Given the description of an element on the screen output the (x, y) to click on. 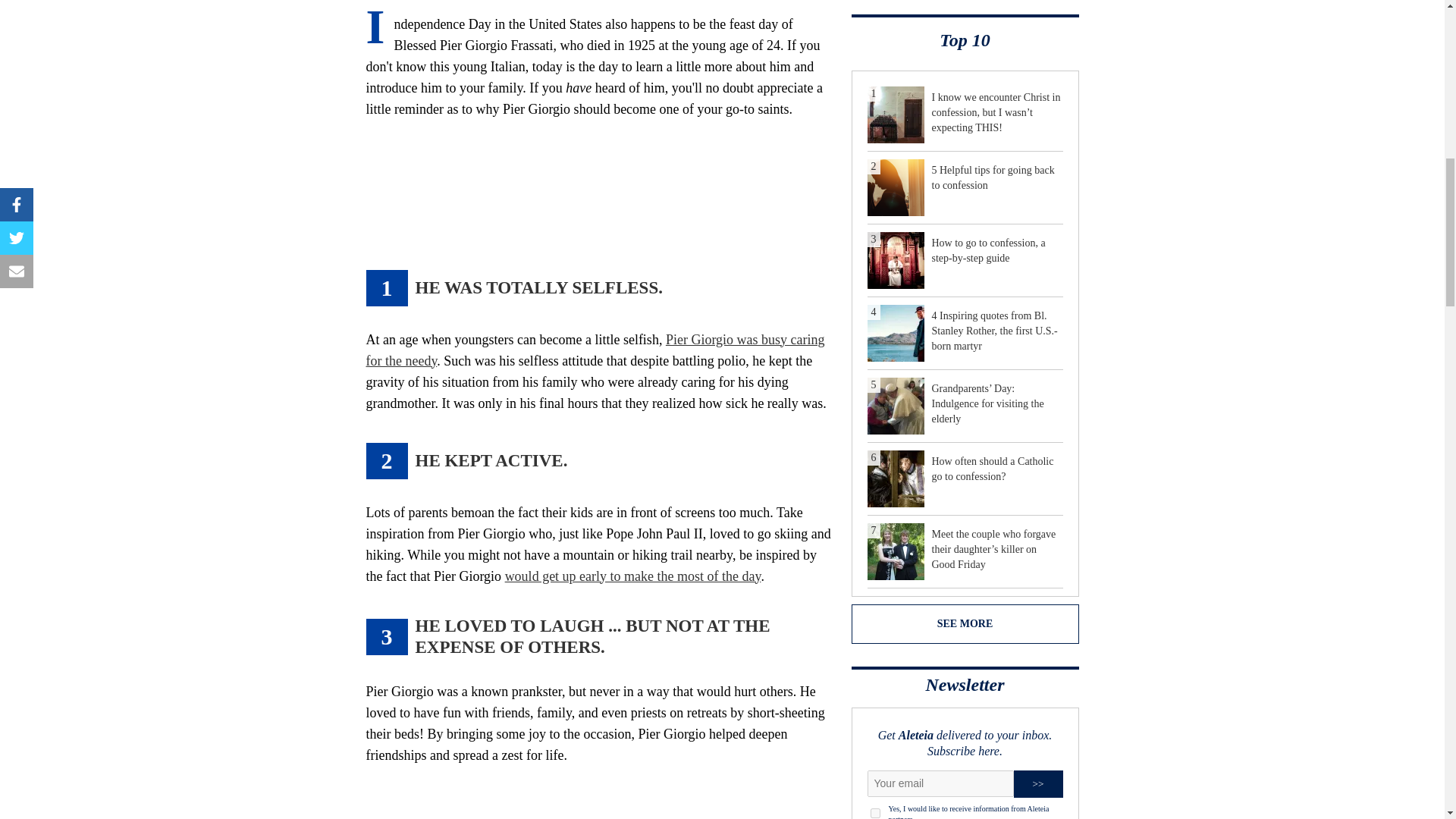
Pier Giorgio was busy caring for the needy (594, 350)
1 (875, 813)
would get up early to make the most of the day (633, 575)
